Given the description of an element on the screen output the (x, y) to click on. 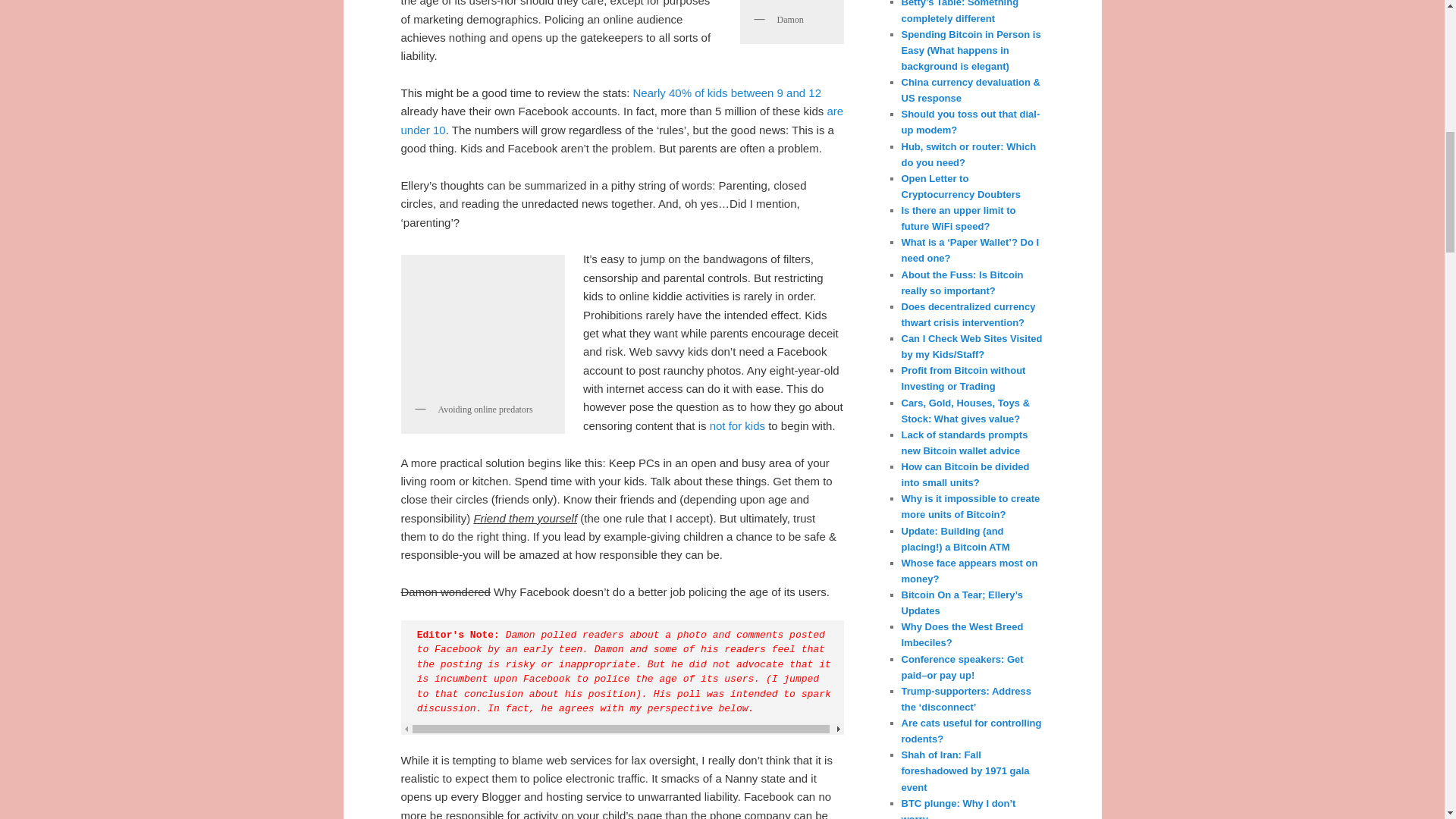
Damon-Face-2 (790, 2)
not for kids (737, 425)
burka-child-s (482, 327)
are under 10 (621, 119)
7.5M Facebook users are under minimum age. 5M kids under 10 (621, 119)
